Given the description of an element on the screen output the (x, y) to click on. 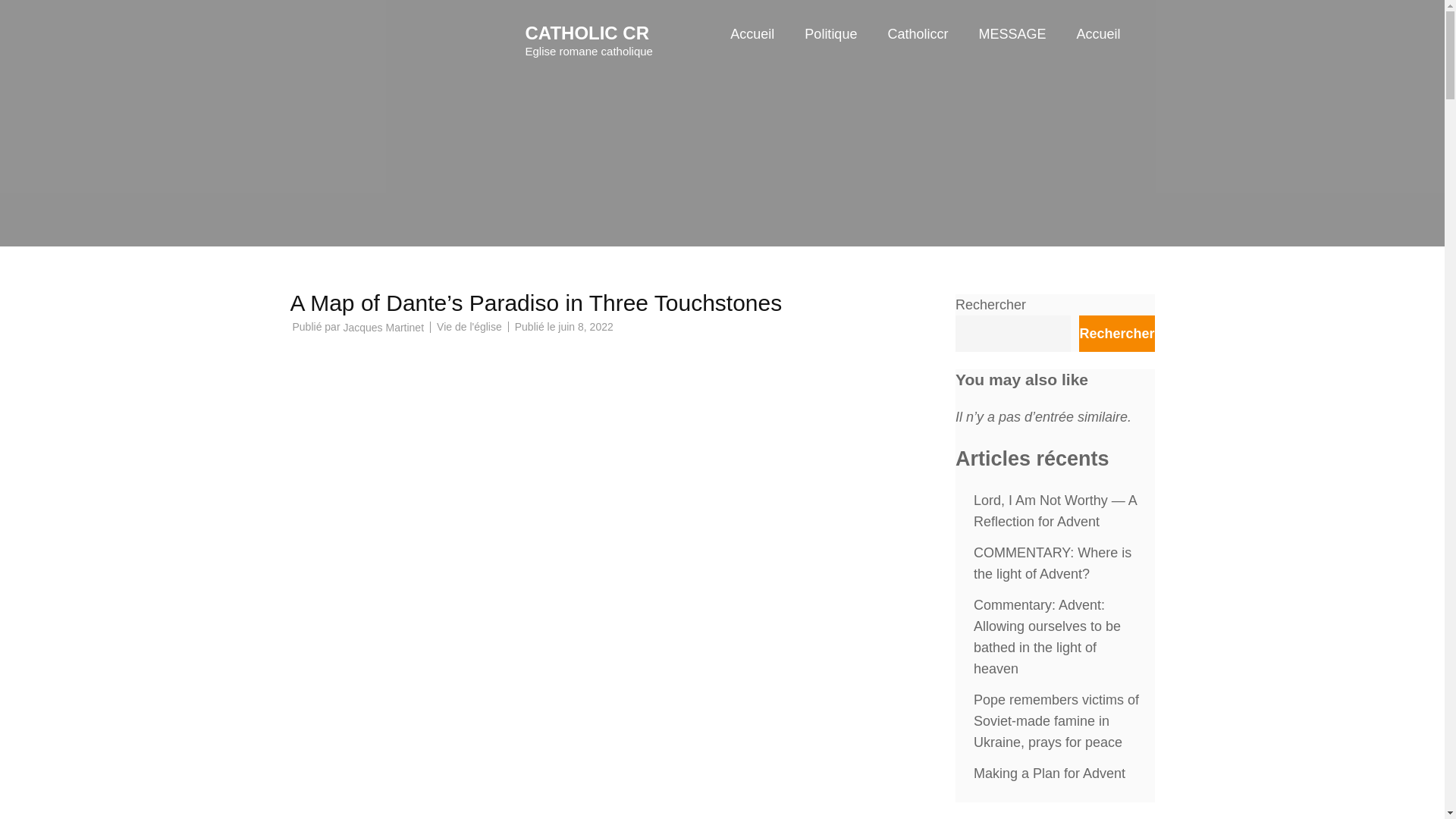
Catholiccr (916, 47)
juin 8, 2022 (584, 326)
Accueil (1097, 47)
Accueil (752, 47)
Jacques Martinet (382, 327)
CATHOLIC CR (586, 32)
Making a Plan for Advent (1049, 773)
MESSAGE (1011, 47)
COMMENTARY: Where is the light of Advent? (1052, 563)
Politique (831, 47)
Rechercher (1116, 333)
